Given the description of an element on the screen output the (x, y) to click on. 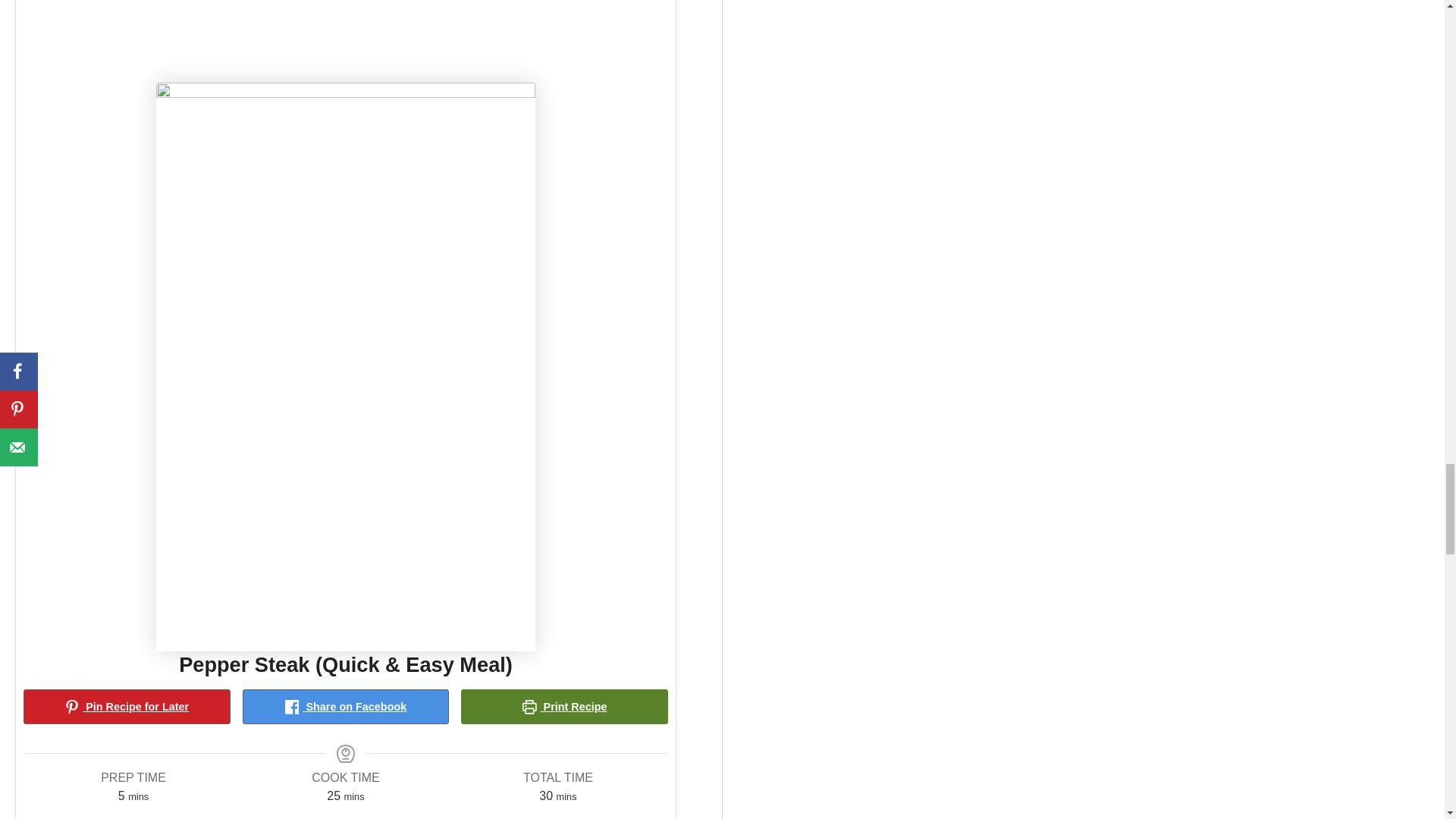
Pin Recipe for Later (126, 706)
Print Recipe (564, 706)
Share on Facebook (346, 706)
